Given the description of an element on the screen output the (x, y) to click on. 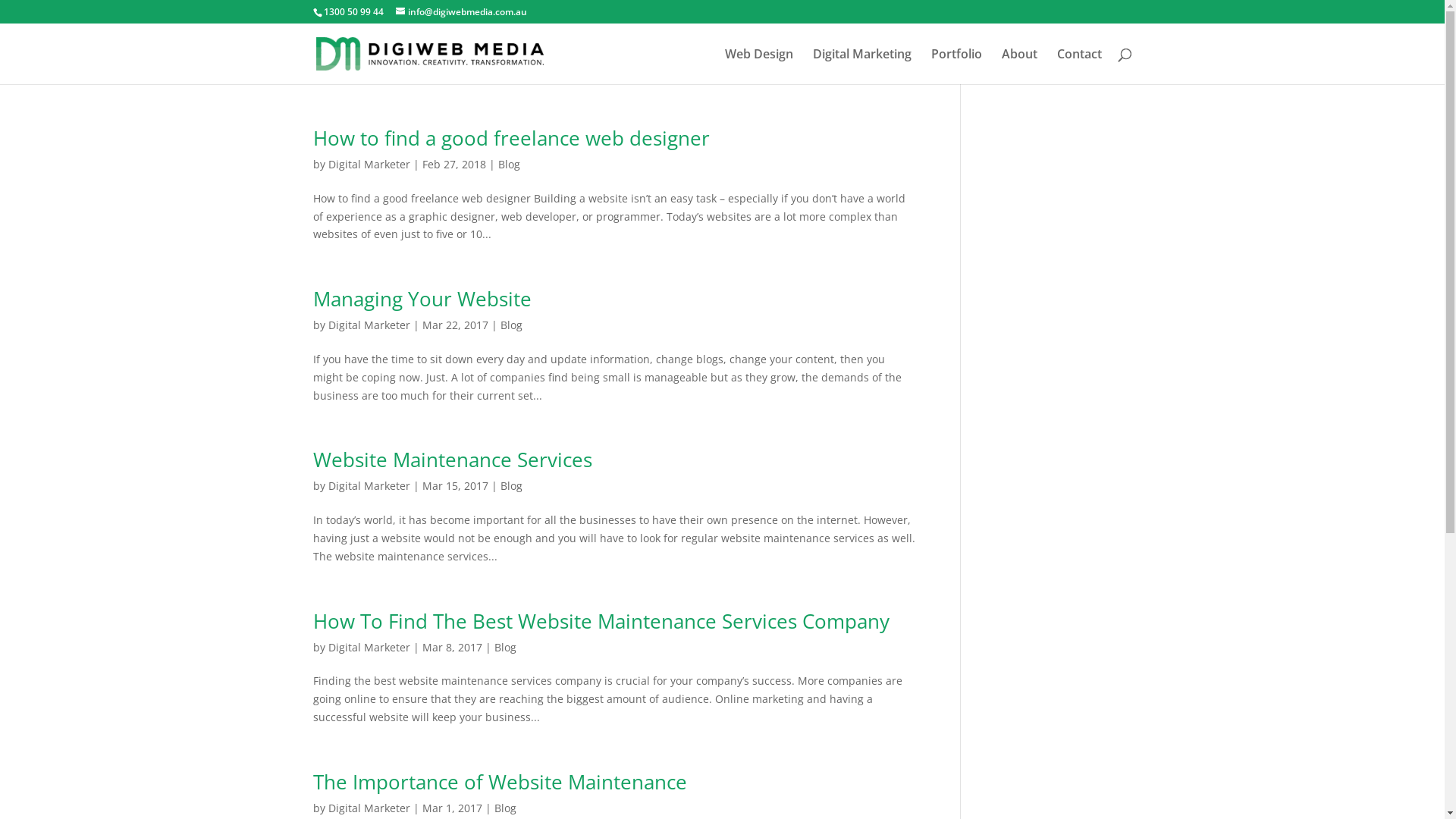
Digital Marketer Element type: text (368, 807)
Blog Element type: text (505, 807)
Contact Element type: text (1079, 66)
The Importance of Website Maintenance Element type: text (499, 781)
Website Maintenance Services Element type: text (451, 459)
Digital Marketer Element type: text (368, 647)
Digital Marketing Element type: text (861, 66)
Digital Marketer Element type: text (368, 163)
Digital Marketer Element type: text (368, 485)
About Element type: text (1018, 66)
How to find a good freelance web designer Element type: text (510, 137)
Portfolio Element type: text (956, 66)
Web Design Element type: text (758, 66)
Blog Element type: text (508, 163)
Digital Marketer Element type: text (368, 324)
Managing Your Website Element type: text (421, 298)
Blog Element type: text (505, 647)
Blog Element type: text (511, 324)
info@digiwebmedia.com.au Element type: text (461, 11)
How To Find The Best Website Maintenance Services Company Element type: text (600, 620)
Blog Element type: text (511, 485)
